Given the description of an element on the screen output the (x, y) to click on. 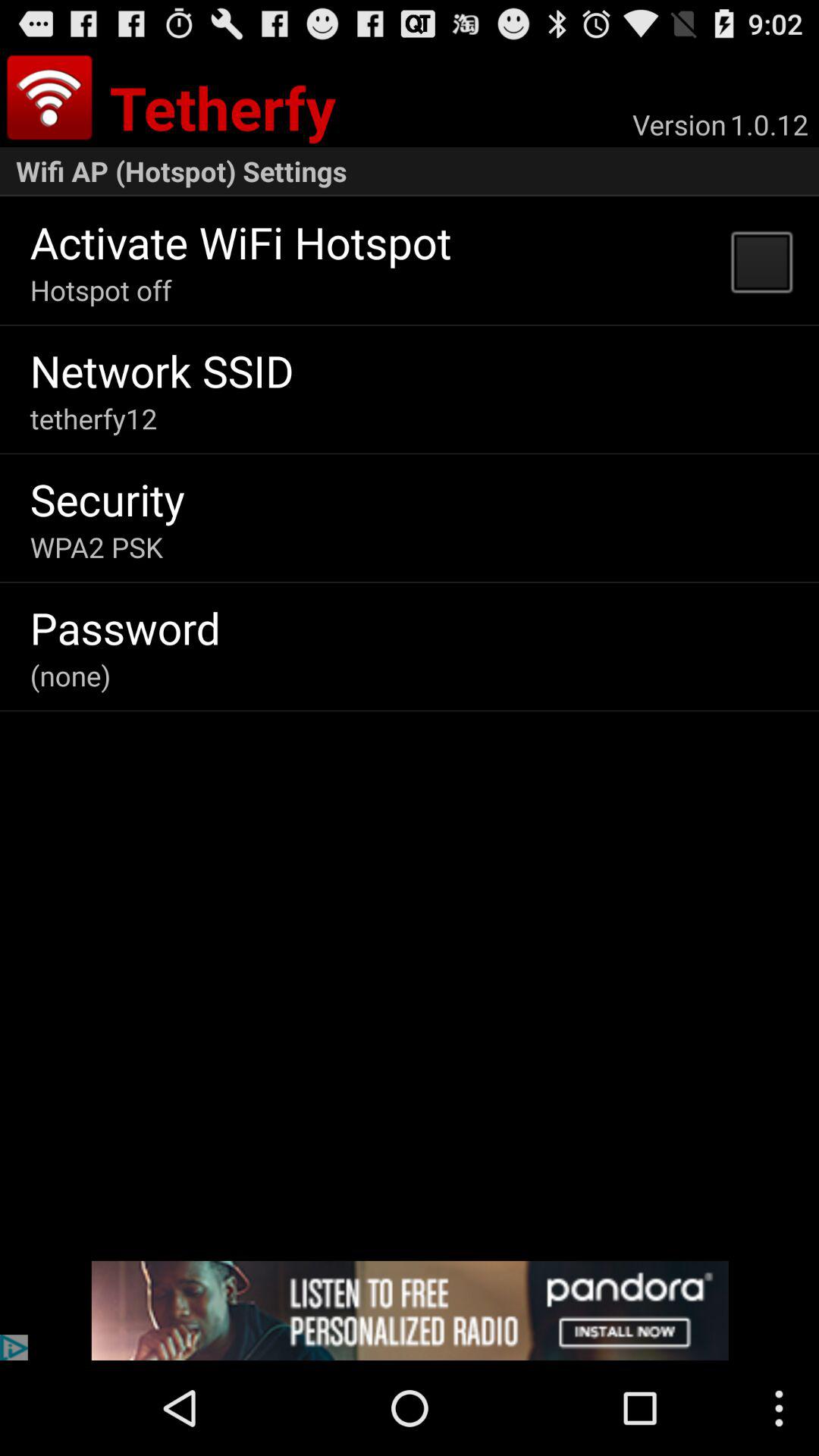
launch the item above the security icon (93, 418)
